Given the description of an element on the screen output the (x, y) to click on. 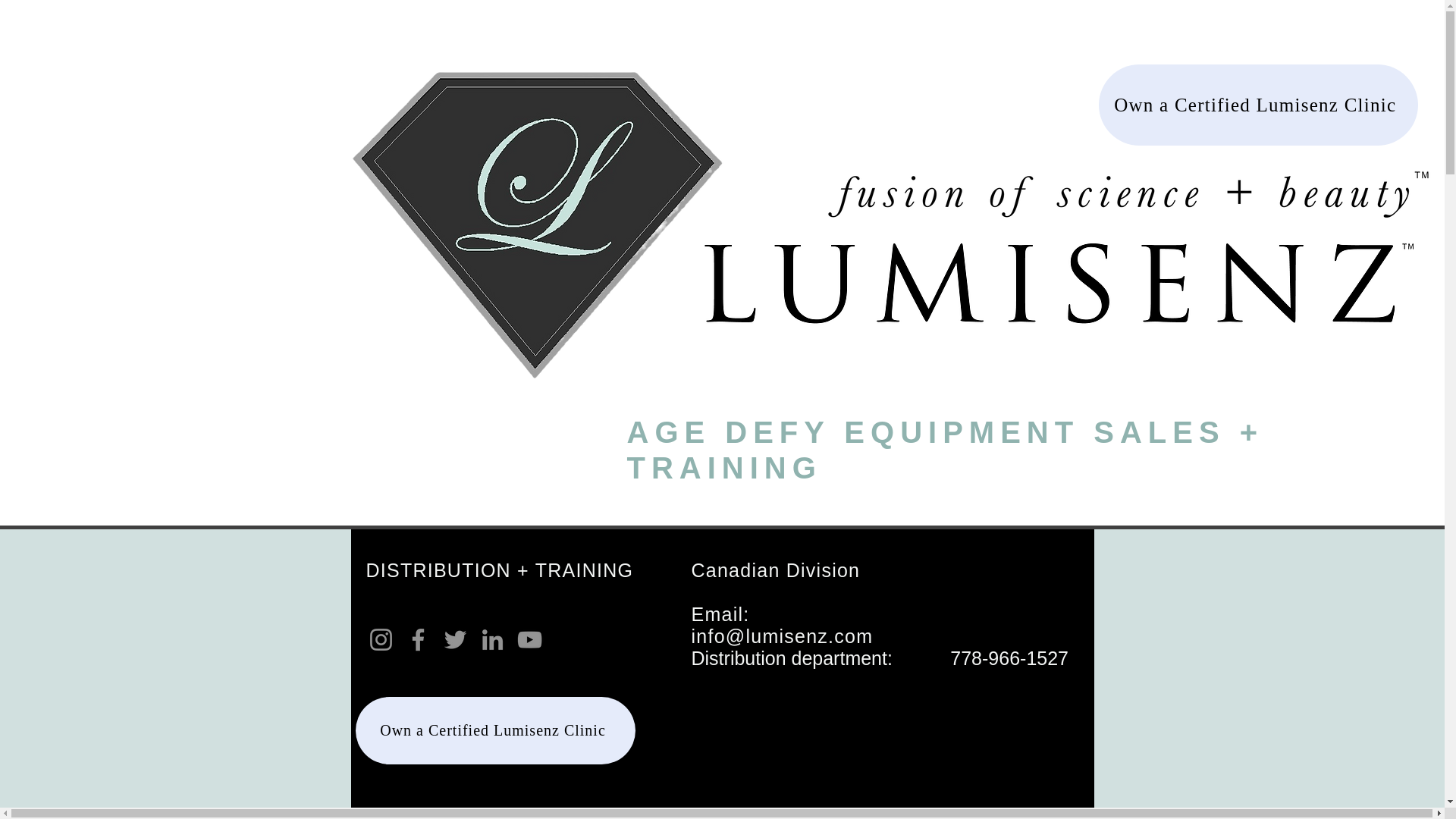
Purchase now (519, 544)
778-966-1527 (1009, 658)
Picture1.png (752, 727)
Own a Certified Lumisenz Clinic  (494, 730)
Own a Certified Lumisenz Clinic  (1256, 104)
